Given the description of an element on the screen output the (x, y) to click on. 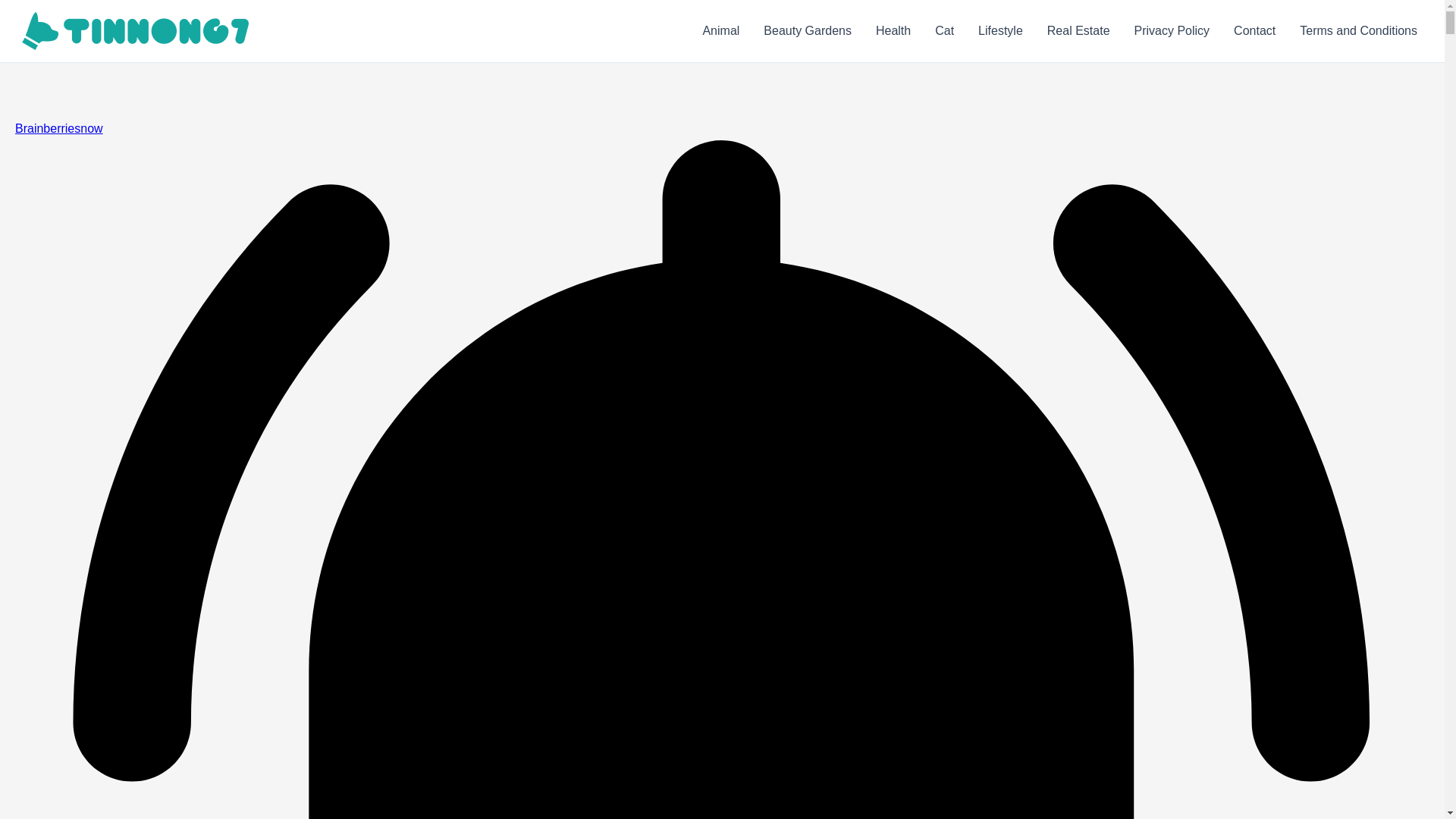
Animal (720, 30)
Health (893, 30)
Privacy Policy (1172, 30)
Real Estate (1078, 30)
Contact (1254, 30)
Terms and Conditions (1358, 30)
Lifestyle (1000, 30)
Beauty Gardens (807, 30)
